Given the description of an element on the screen output the (x, y) to click on. 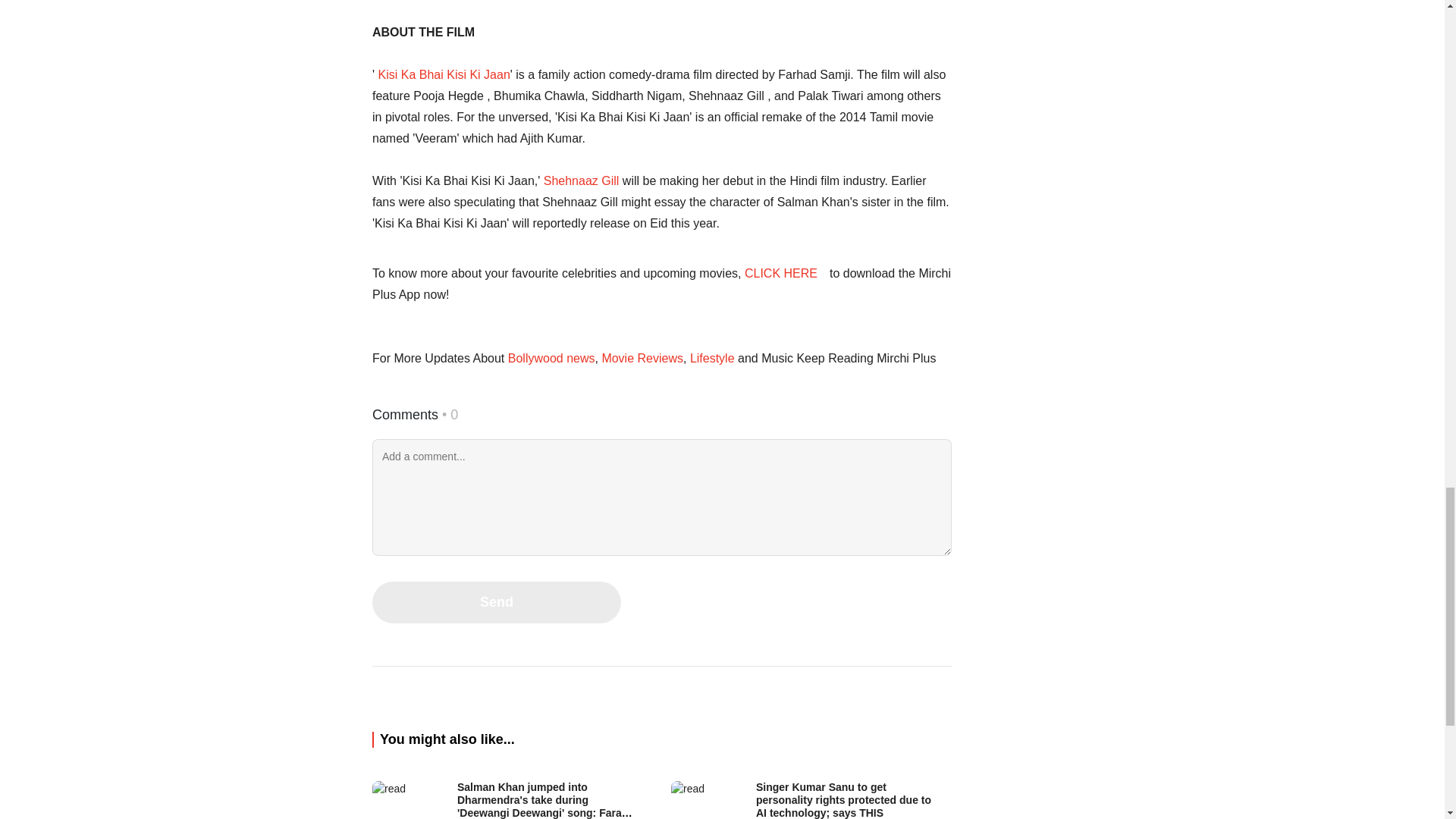
Bollywood news (550, 358)
Lifestyle (710, 358)
Movie Reviews (641, 358)
